Given the description of an element on the screen output the (x, y) to click on. 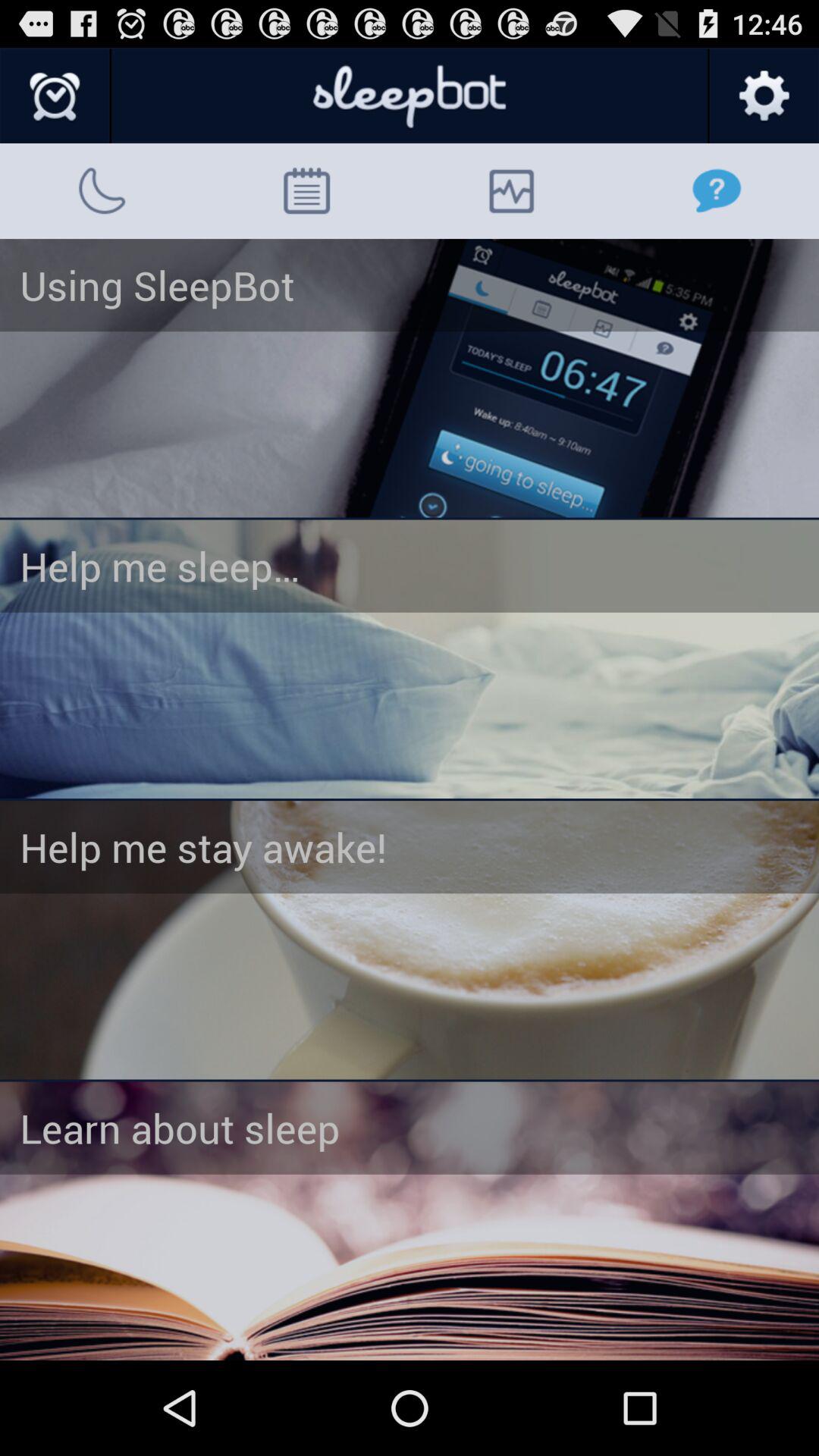
using sleepbot guide (409, 377)
